Given the description of an element on the screen output the (x, y) to click on. 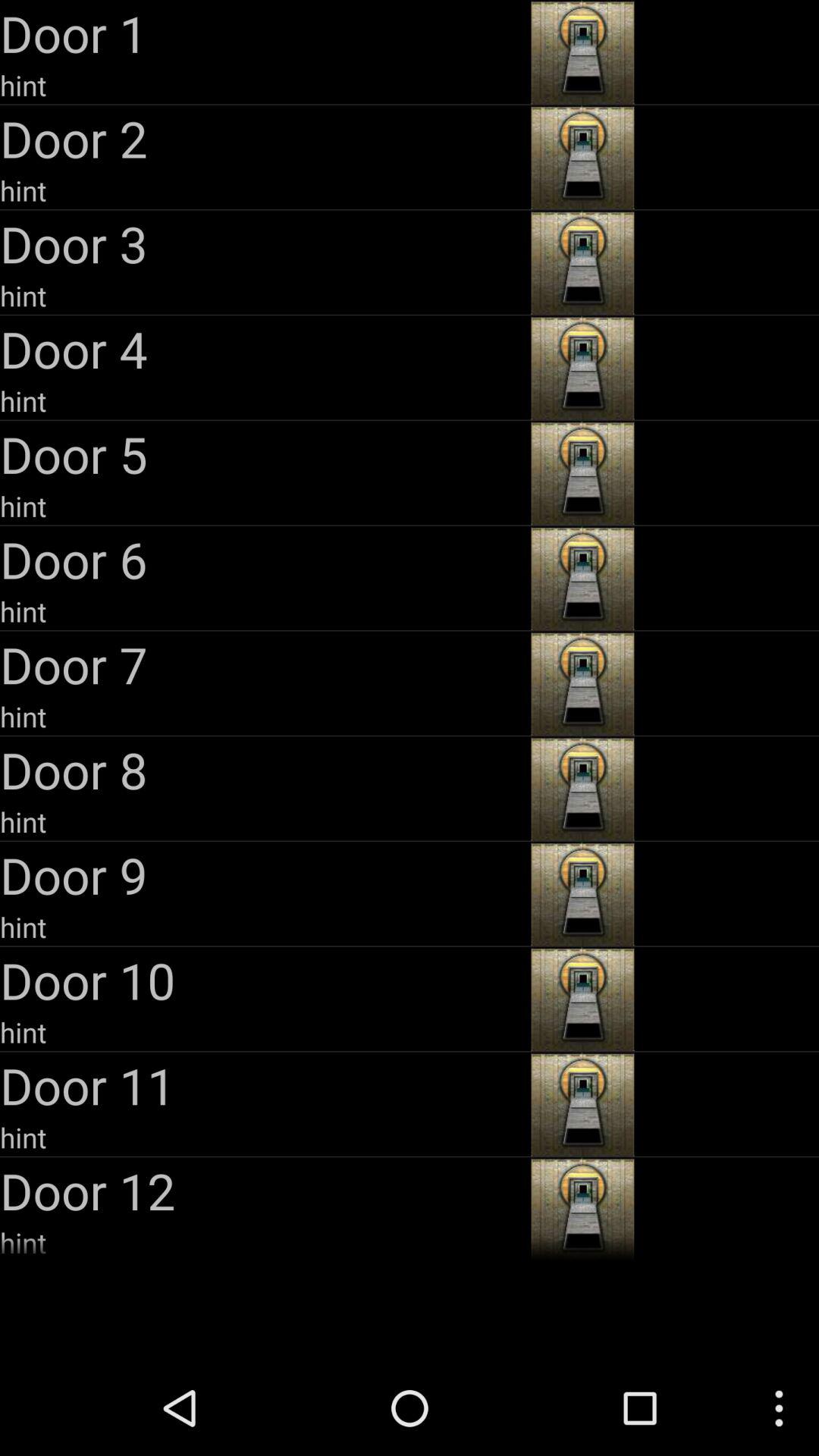
launch app below hint (263, 453)
